Given the description of an element on the screen output the (x, y) to click on. 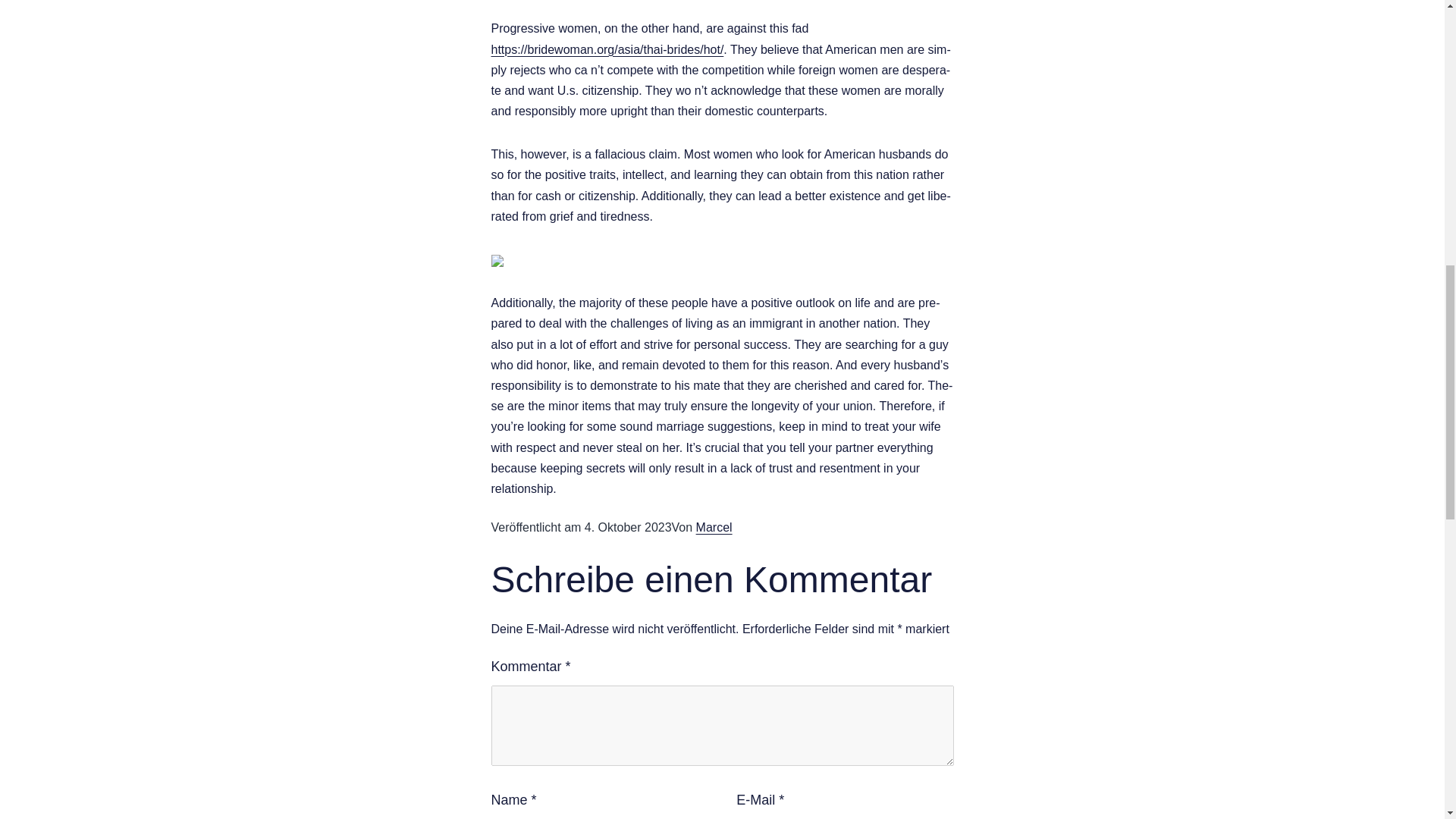
Marcel (713, 526)
